Given the description of an element on the screen output the (x, y) to click on. 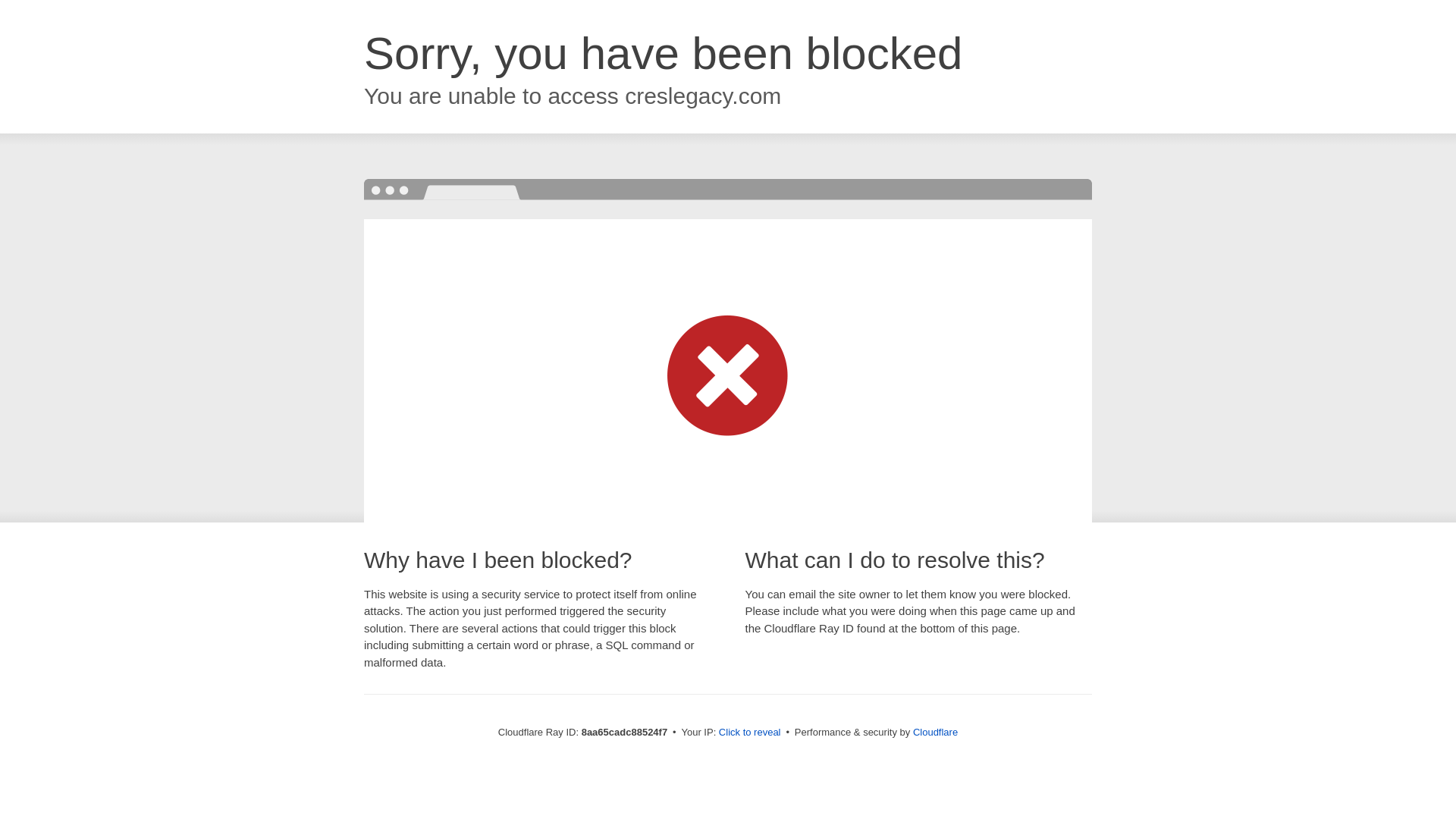
Click to reveal (749, 732)
Cloudflare (935, 731)
